Given the description of an element on the screen output the (x, y) to click on. 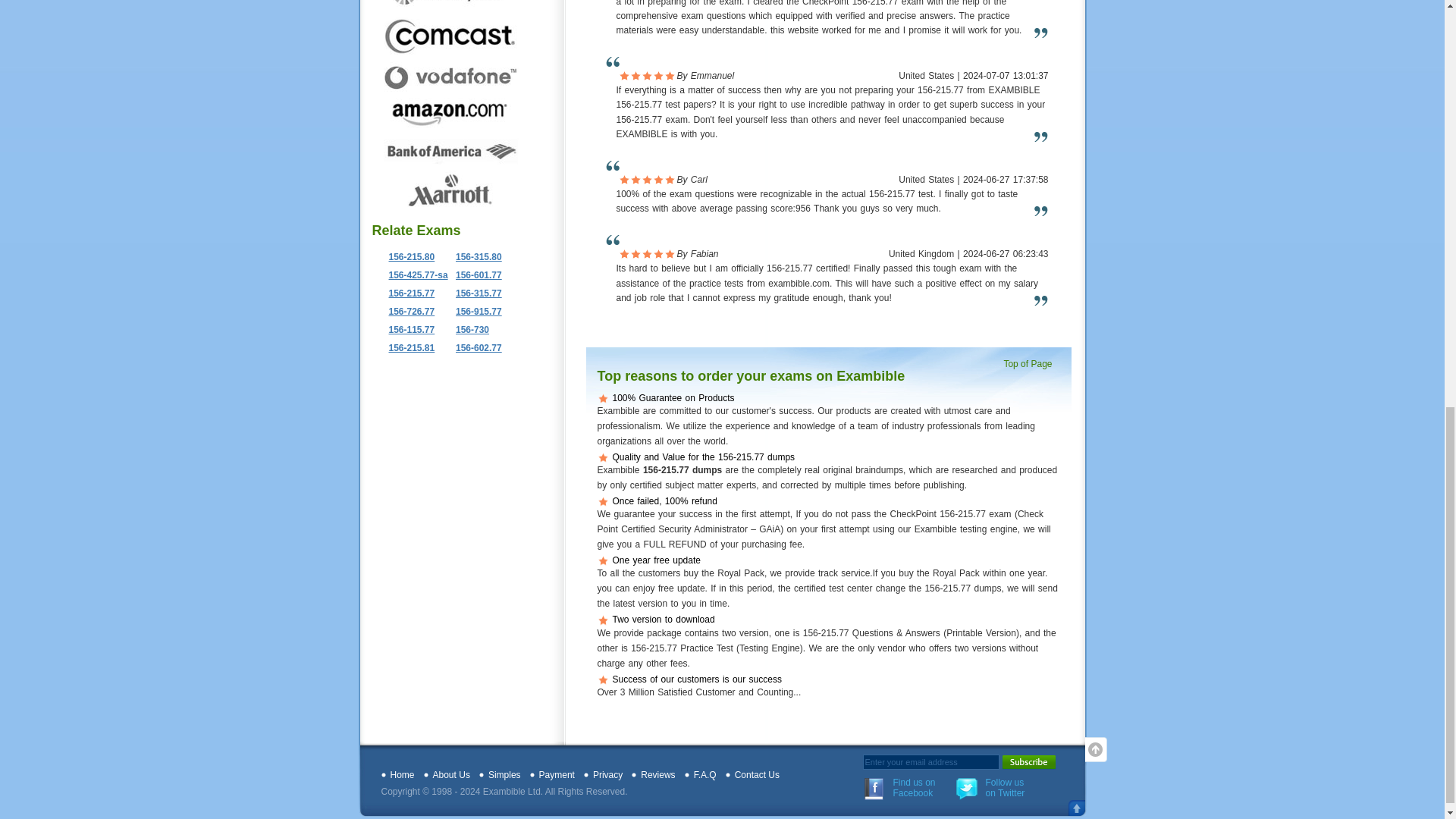
Reviews (657, 774)
156-315.77 (475, 293)
Enter your email address (930, 761)
156-315.80 (475, 256)
156-726.77 (406, 311)
156-115.77 (406, 329)
156-215.80 (406, 256)
156-915.77 (475, 311)
Top of Page (1031, 363)
Home (401, 774)
156-215.81 (406, 347)
About Us (451, 774)
Simples (504, 774)
156-425.77-sa (413, 275)
156-601.77 (475, 275)
